Given the description of an element on the screen output the (x, y) to click on. 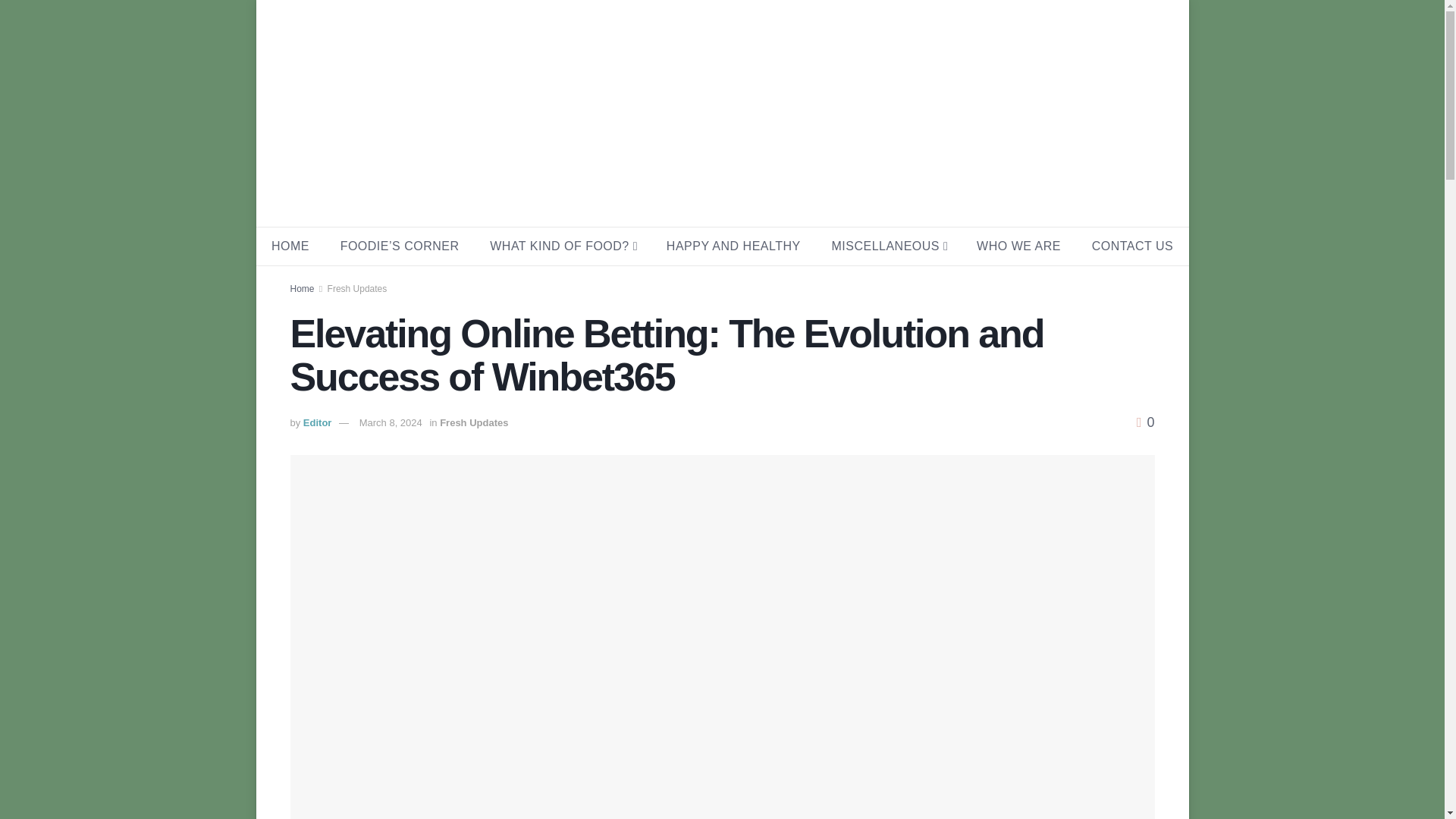
March 8, 2024 (390, 422)
Editor (316, 422)
Fresh Updates (357, 288)
WHAT KIND OF FOOD? (562, 246)
MISCELLANEOUS (887, 246)
Fresh Updates (473, 422)
0 (1145, 421)
Home (301, 288)
HOME (290, 246)
HAPPY AND HEALTHY (732, 246)
